Given the description of an element on the screen output the (x, y) to click on. 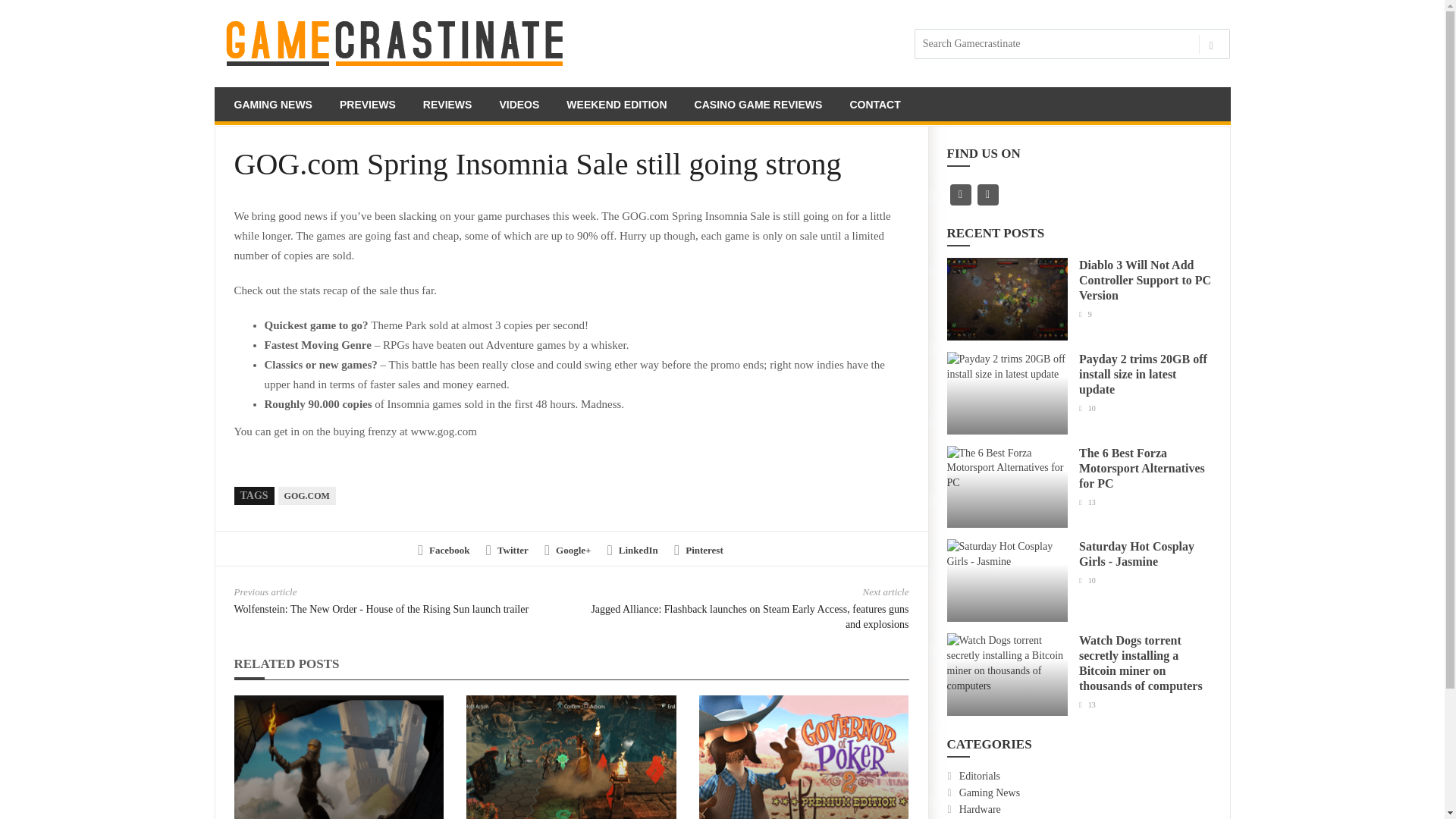
PREVIEWS (367, 106)
Twitter (507, 549)
GOG.COM (307, 495)
CONTACT (874, 106)
LinkedIn (632, 549)
Pinterest (698, 549)
REVIEWS (447, 106)
Facebook (442, 549)
CASINO GAME REVIEWS (758, 106)
WEEKEND EDITION (616, 106)
VIDEOS (518, 106)
The 6 Best Forza Motorsport Alternatives for PC (1141, 466)
